Given the description of an element on the screen output the (x, y) to click on. 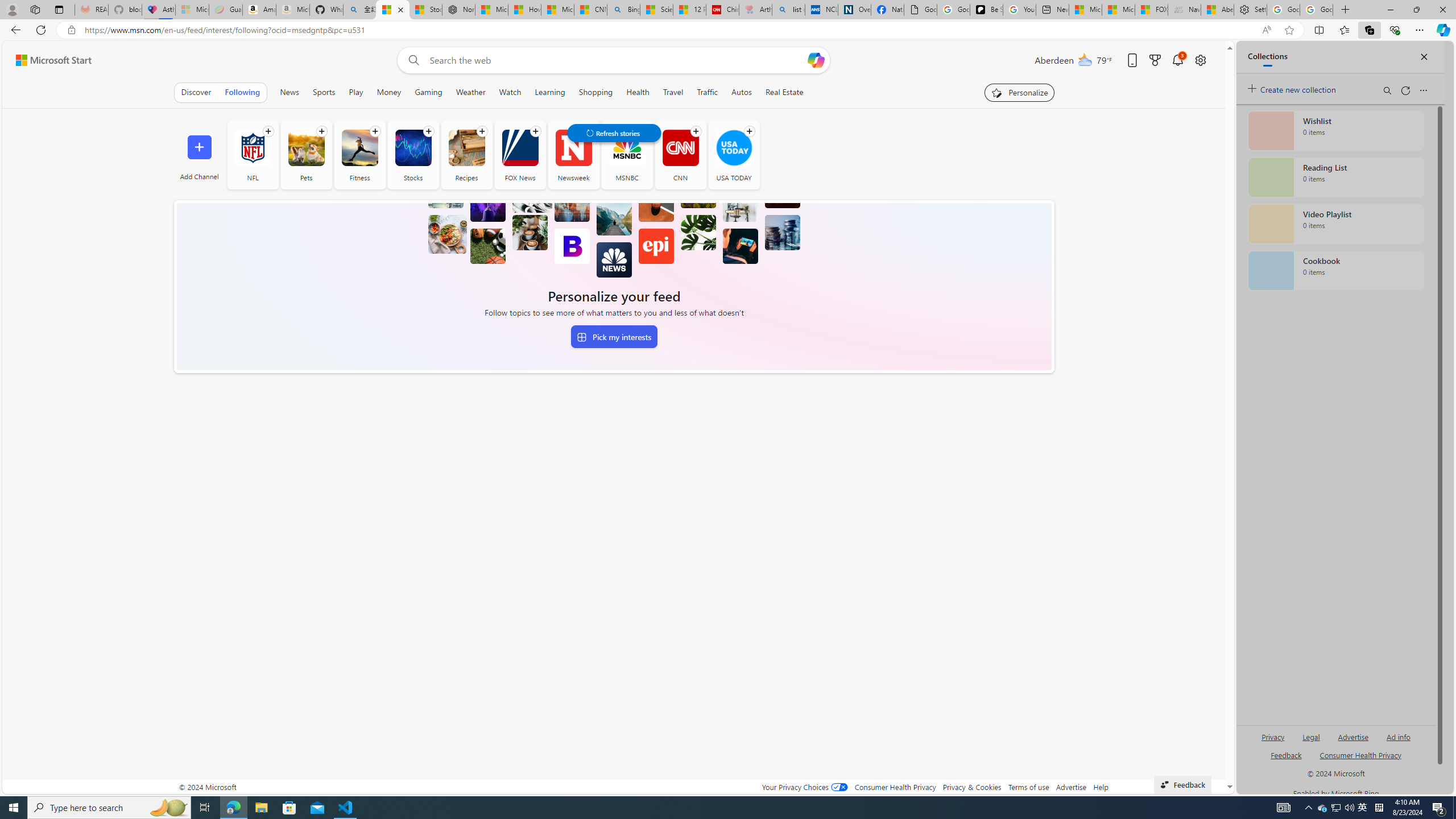
Skip to content (49, 59)
Google Analytics Opt-out Browser Add-on Download Page (920, 9)
Privacy & Cookies (971, 786)
Add Channel (199, 155)
Pets (306, 155)
NFL (252, 155)
Traffic (707, 92)
Pick my interests (614, 336)
CNN - MSN (590, 9)
